Given the description of an element on the screen output the (x, y) to click on. 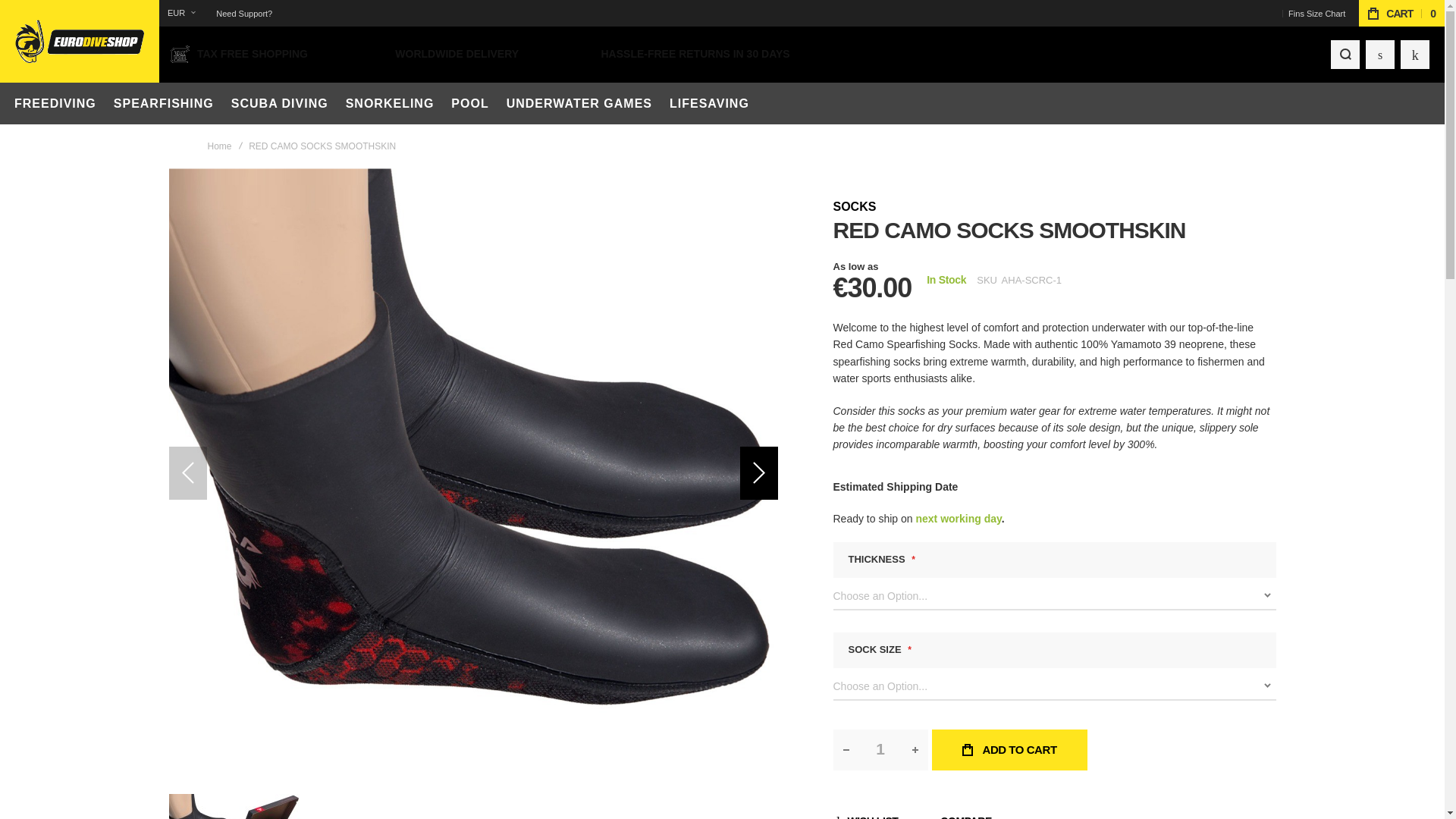
Go to Home Page (219, 146)
FREEDIVING (55, 103)
Fins Size Chart (1316, 13)
Availability (946, 280)
Qty (879, 749)
1 (879, 749)
Need Support? (243, 13)
Add to Cart (1008, 749)
MY ACCOUNT (1379, 54)
